Given the description of an element on the screen output the (x, y) to click on. 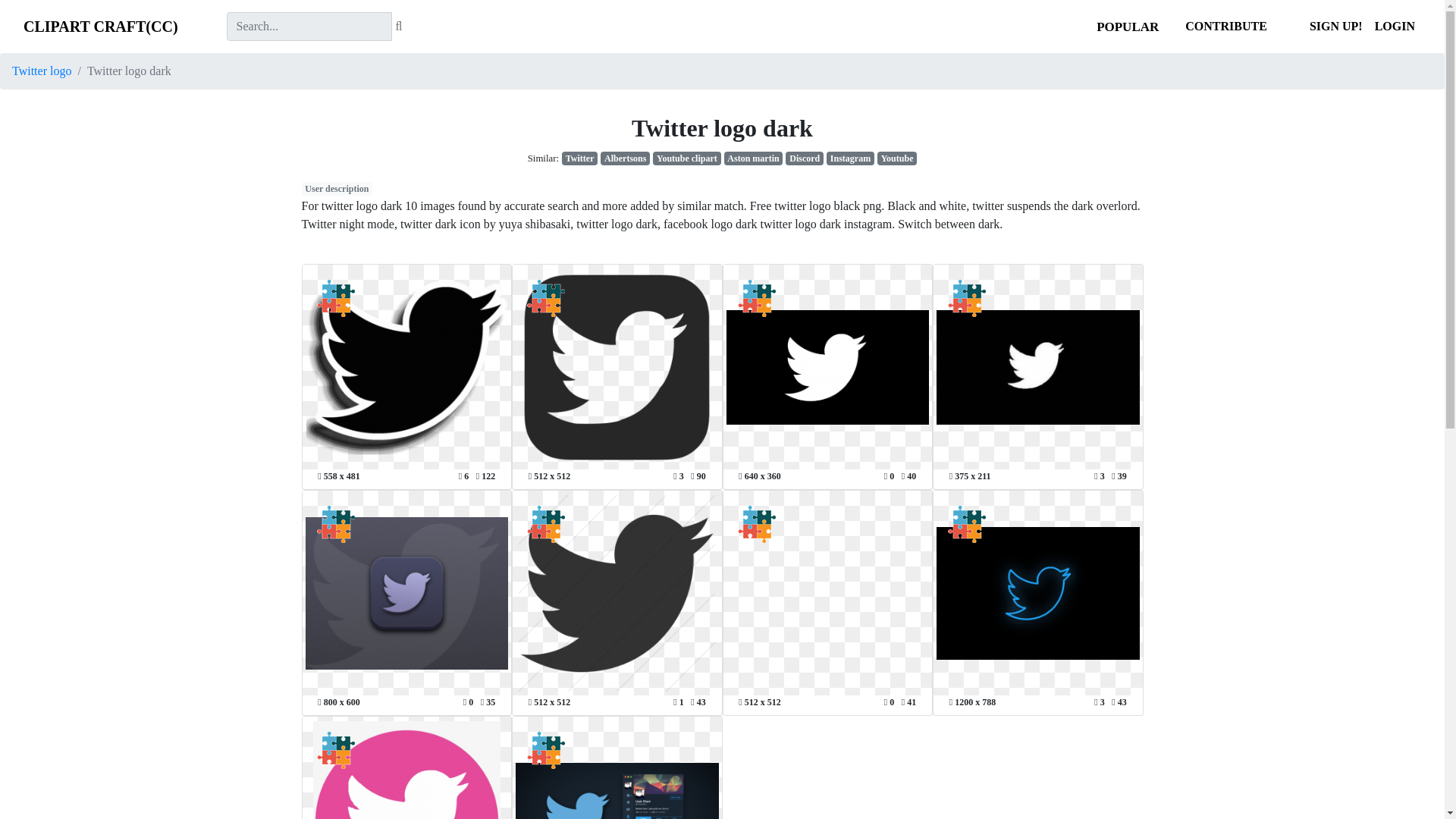
Aston martin (753, 158)
Discord (805, 158)
SIGN UP! (1335, 26)
Albertsons (624, 158)
Youtube (897, 158)
albertsons logo dark (624, 158)
Instagram (851, 158)
CONTRIBUTE (1225, 26)
LOGIN (1394, 26)
POPULAR (1127, 26)
youtube logo transparent dark (897, 158)
discord logo transparent dark (805, 158)
aston martin logo dark (753, 158)
instagram transparent logo dark (851, 158)
transparent twitter logo dark (579, 158)
